Given the description of an element on the screen output the (x, y) to click on. 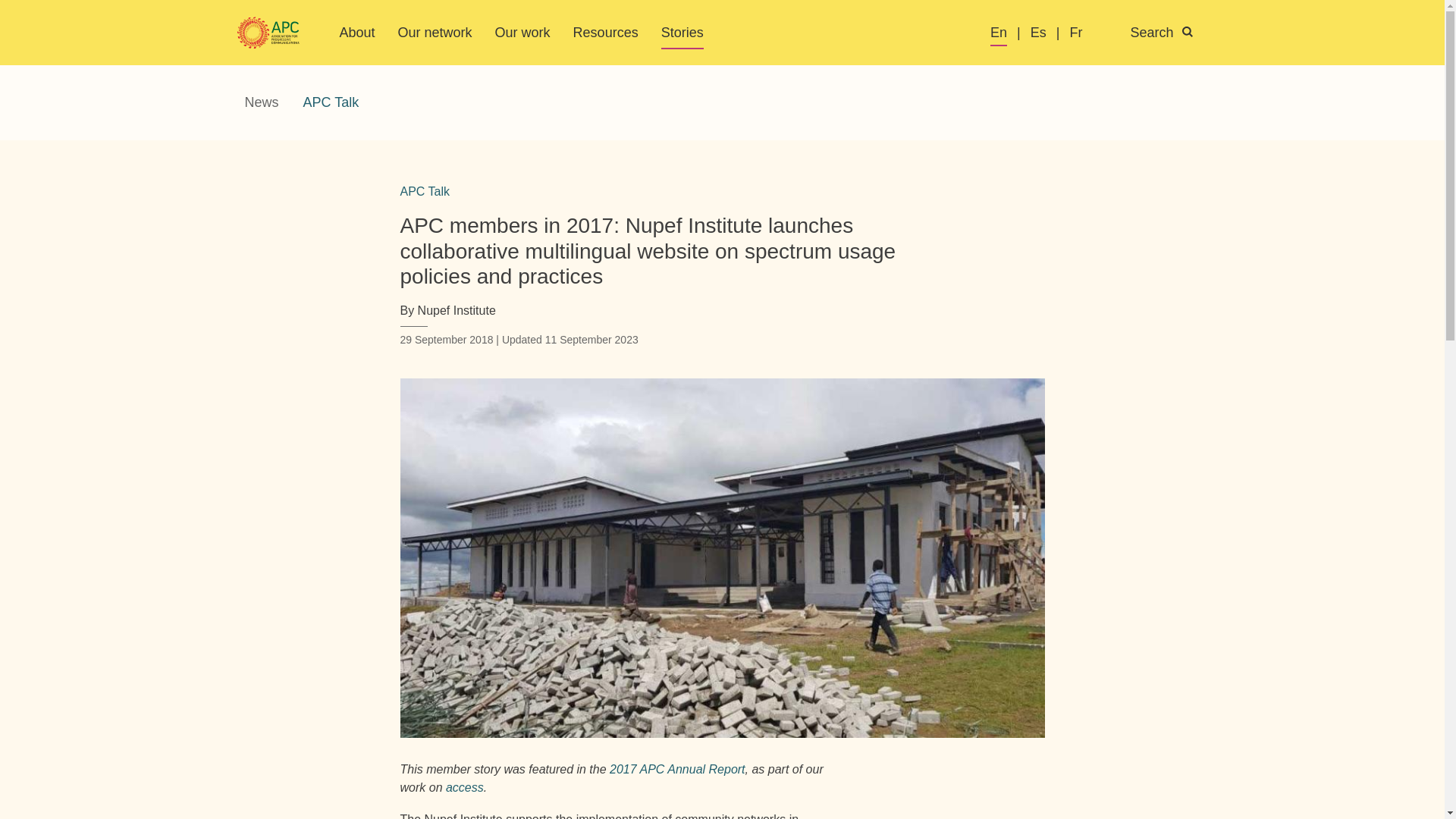
access (464, 787)
language switcher content (1101, 32)
Stories (682, 32)
Resources (606, 32)
APC Talk (331, 102)
News (260, 102)
Our network (434, 32)
Saturday, September 29, 2018 - 05:07 (446, 339)
Association for Progressive Communications (267, 32)
APC Talk (424, 191)
